Given the description of an element on the screen output the (x, y) to click on. 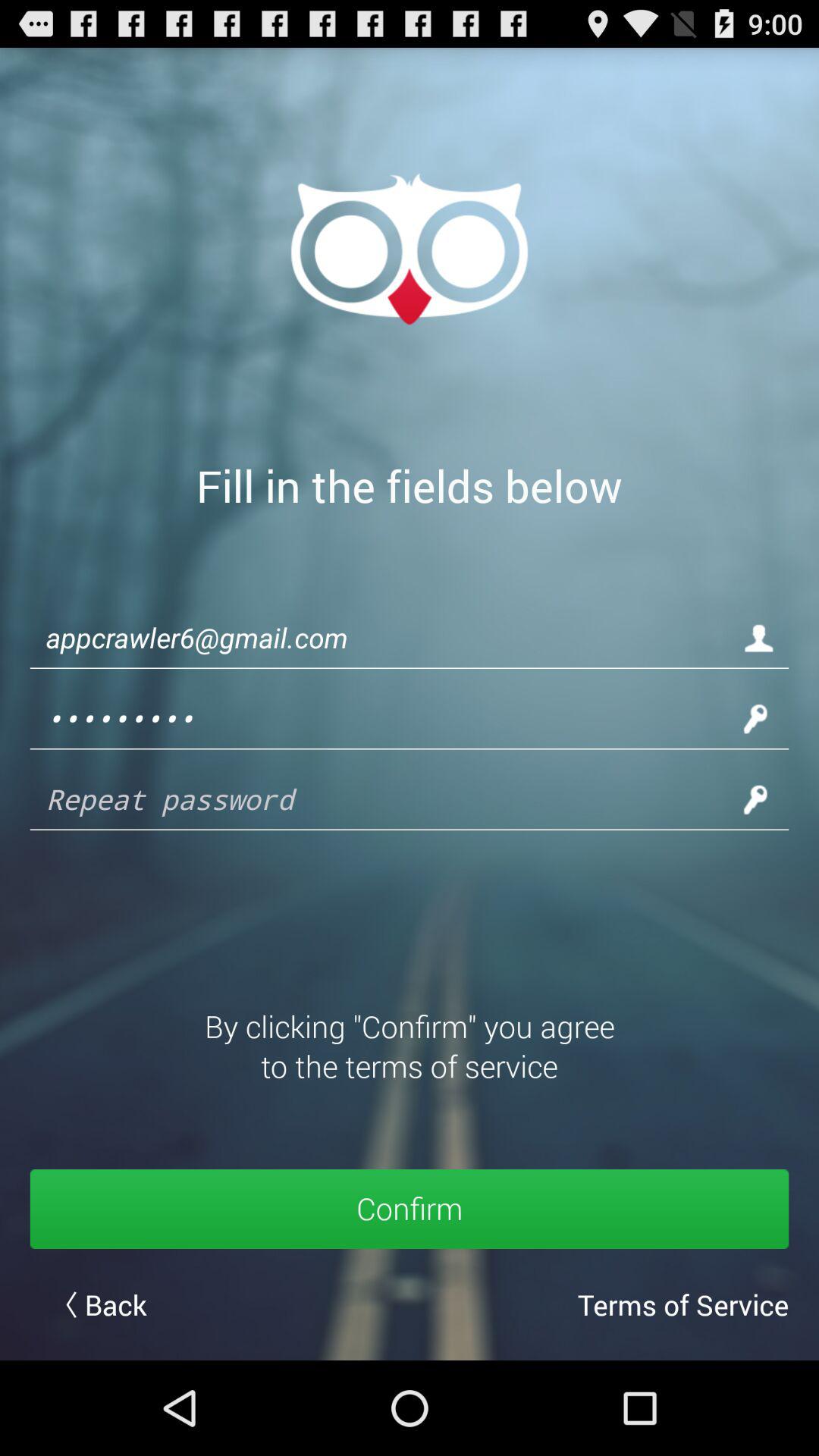
repeat password (387, 799)
